Given the description of an element on the screen output the (x, y) to click on. 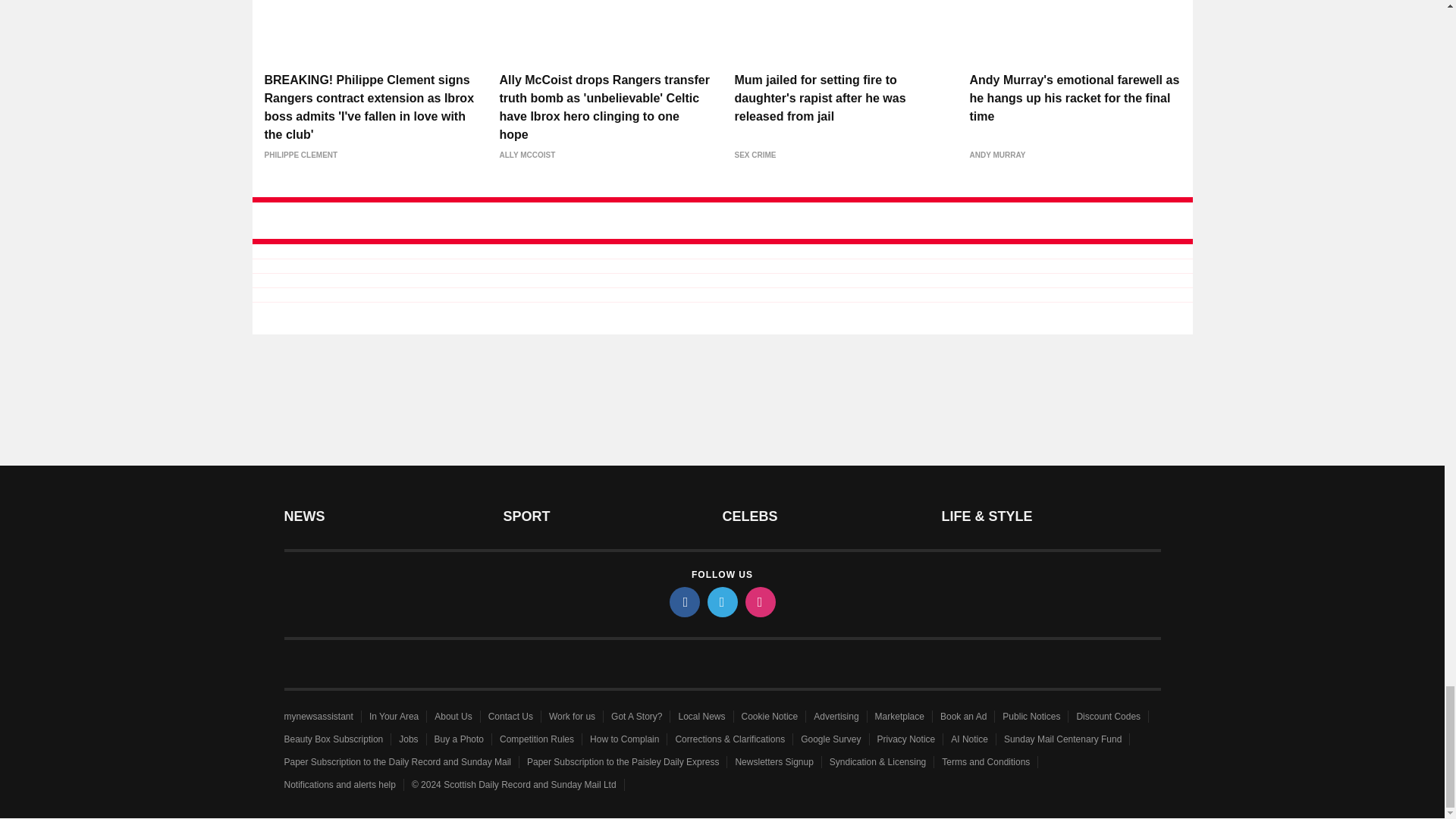
facebook (683, 602)
twitter (721, 602)
instagram (759, 602)
